Given the description of an element on the screen output the (x, y) to click on. 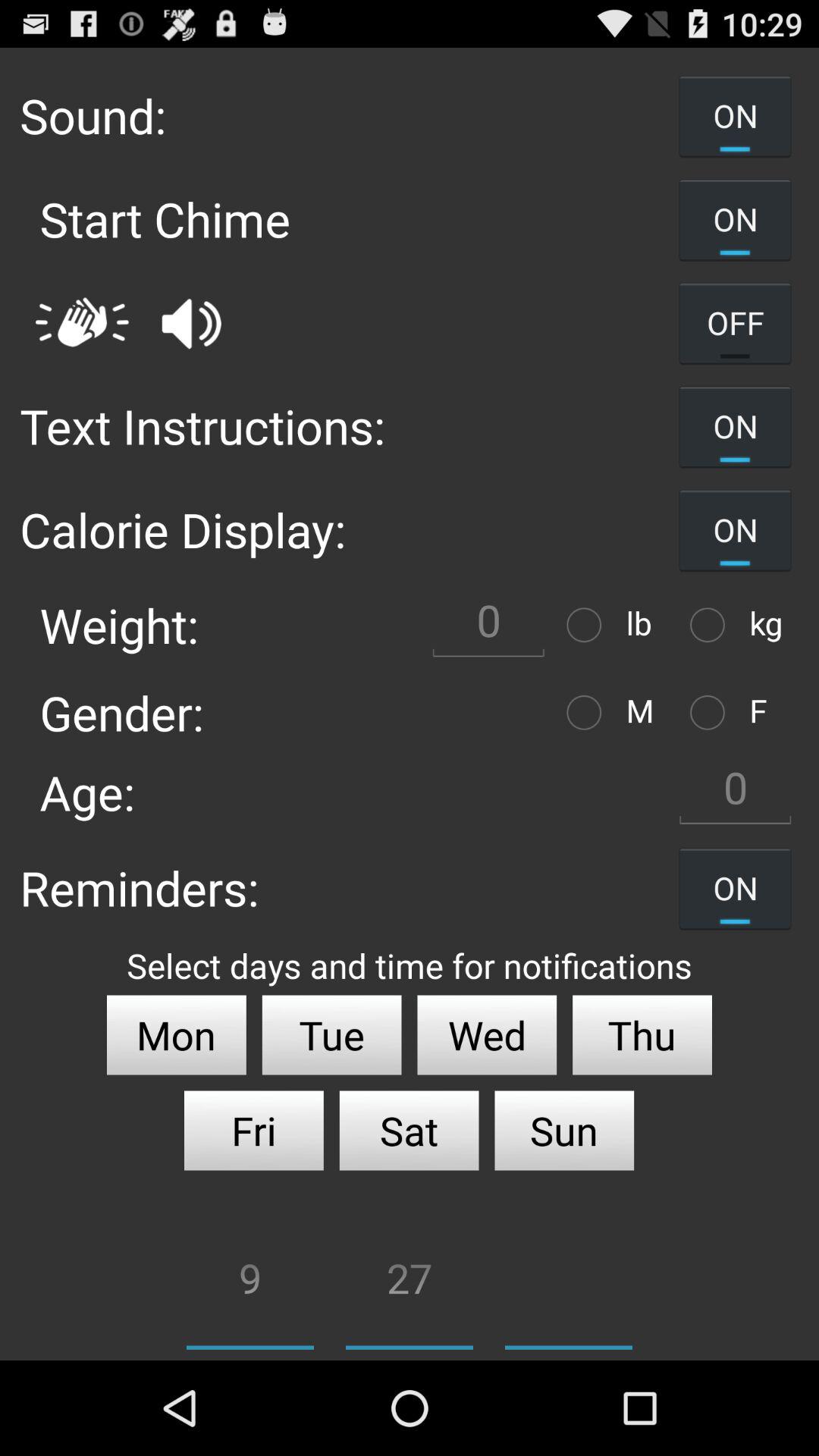
switch to kilogram option (711, 624)
